Given the description of an element on the screen output the (x, y) to click on. 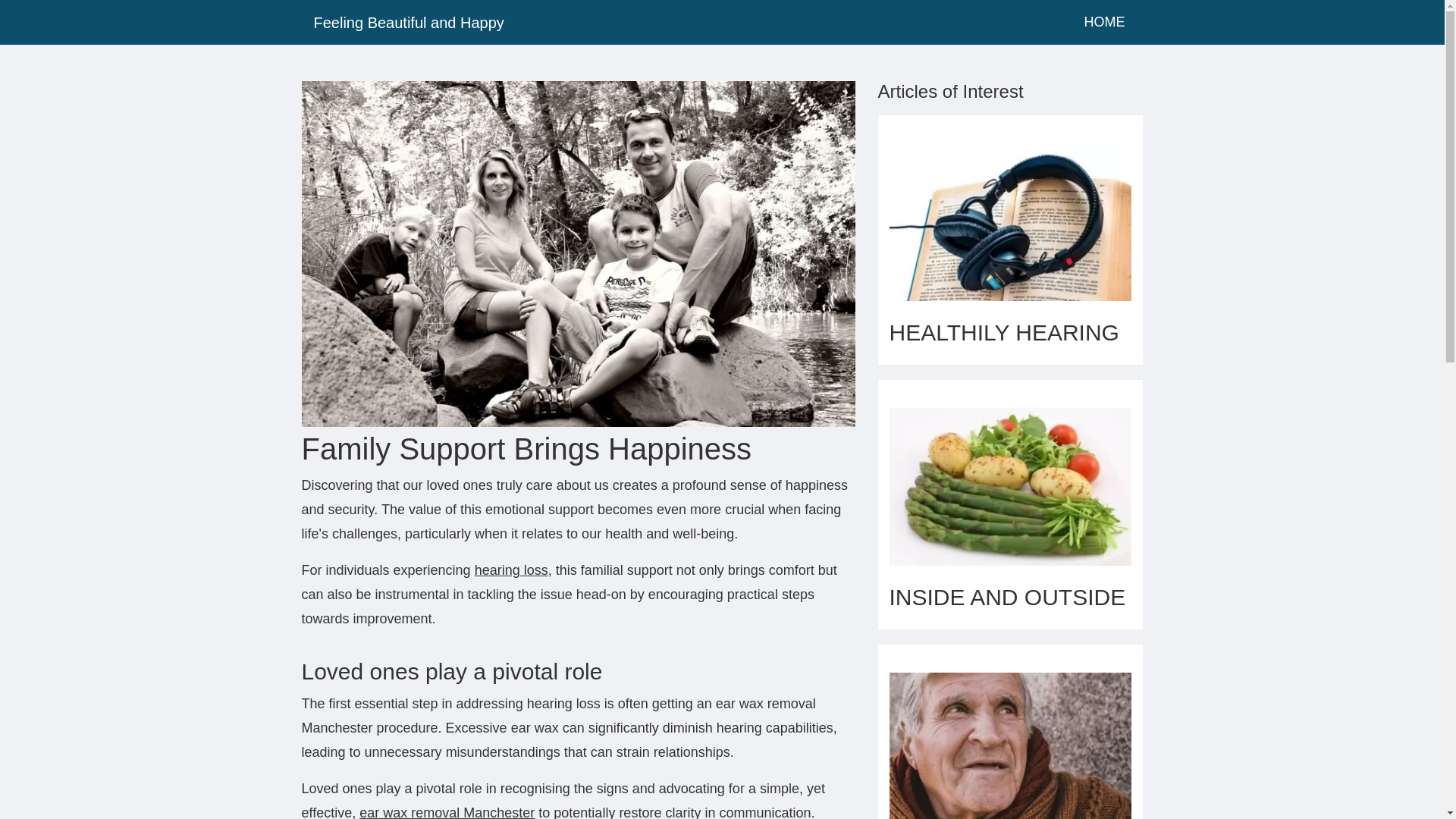
ear wax removal Manchester (446, 812)
HEALTHILY HEARING (1003, 332)
INSIDE AND OUTSIDE (1006, 596)
hearing loss (511, 570)
Feeling Beautiful and Happy (689, 22)
HOME (1104, 21)
